Given the description of an element on the screen output the (x, y) to click on. 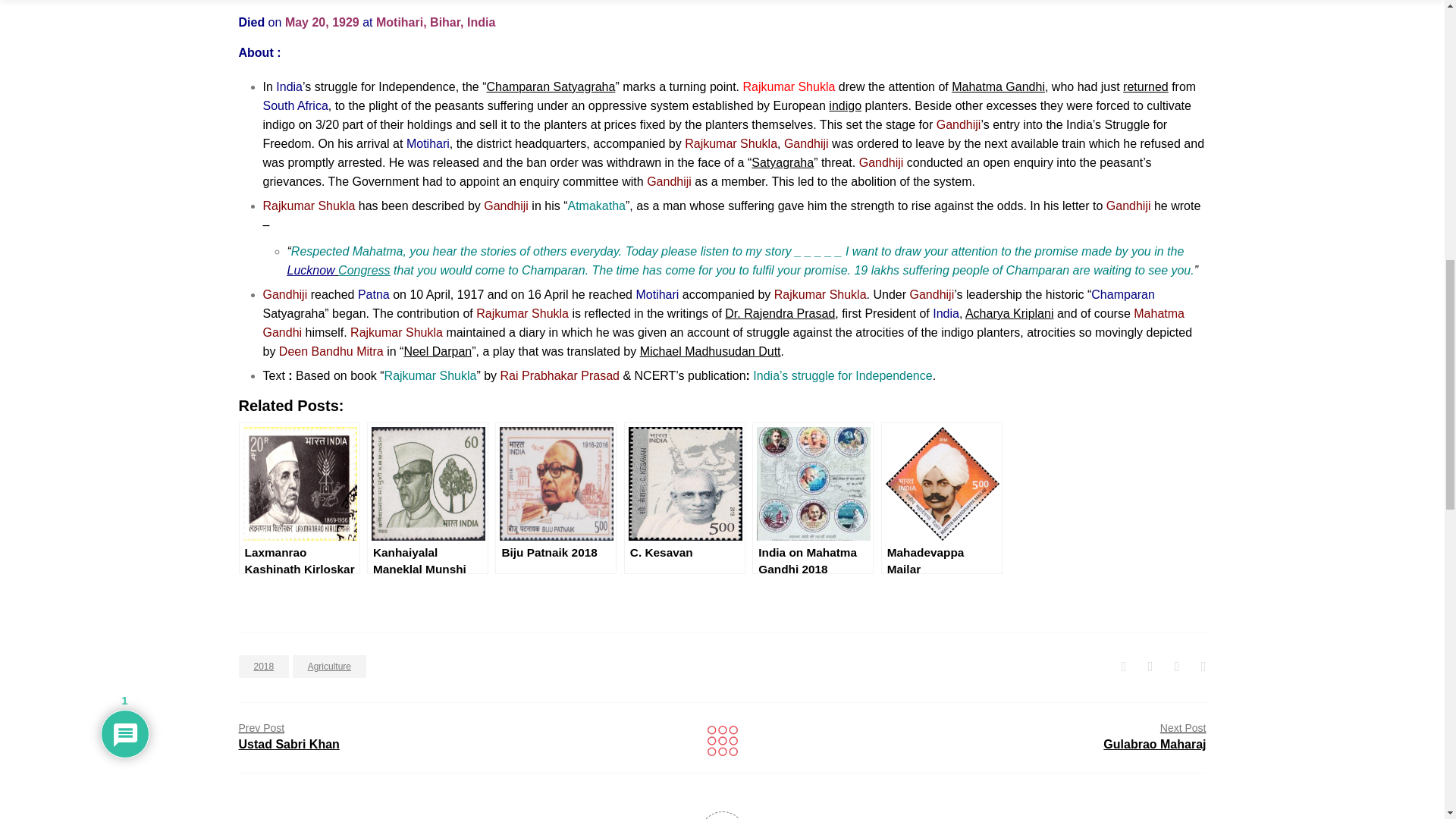
Neel Darpan (437, 350)
Dr. Rajendra Prasad (779, 313)
Acharya Kriplani (1009, 313)
Champaran Satyagraha (550, 86)
Satyagraha (782, 162)
Michael Madhusudan Dutt (710, 350)
returned (1145, 86)
Mahatma Gandhi (998, 86)
